Given the description of an element on the screen output the (x, y) to click on. 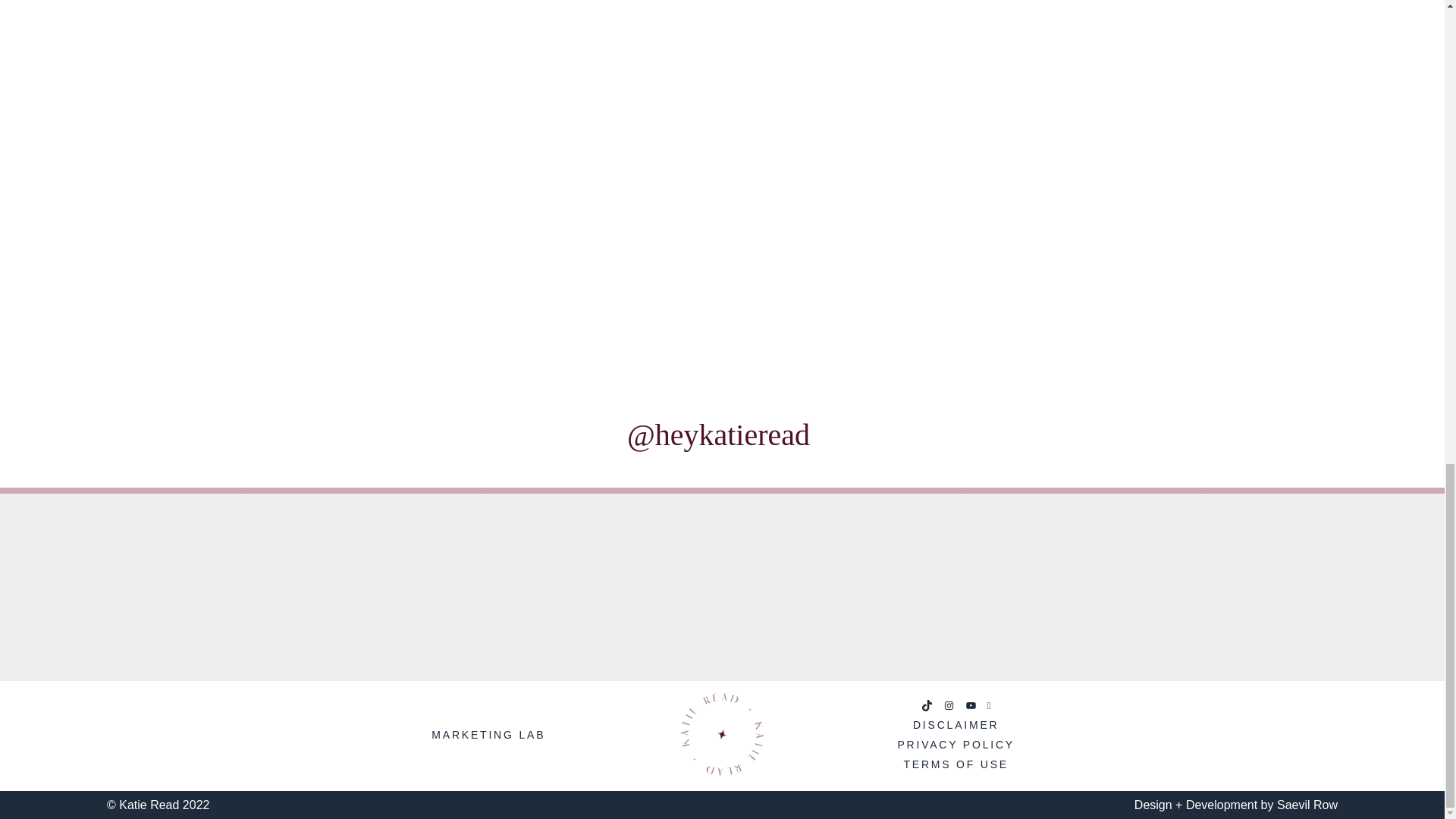
YouTube (970, 704)
PRIVACY POLICY (955, 744)
TikTok (927, 704)
Instagram (949, 704)
TERMS OF USE (955, 764)
MARKETING LAB (487, 734)
Facebook (989, 705)
DISCLAIMER (955, 725)
